Given the description of an element on the screen output the (x, y) to click on. 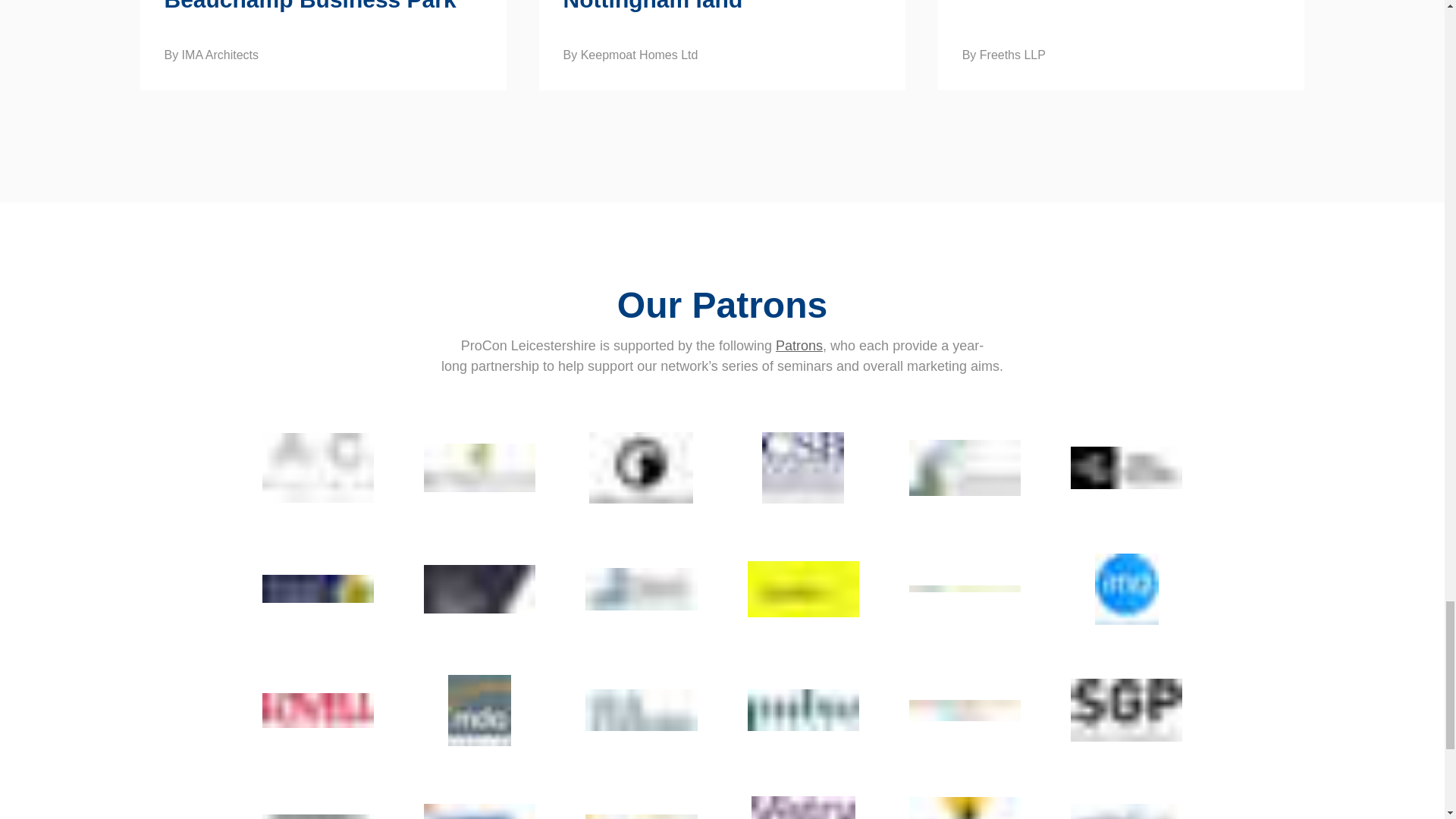
Patrons (799, 345)
